Given the description of an element on the screen output the (x, y) to click on. 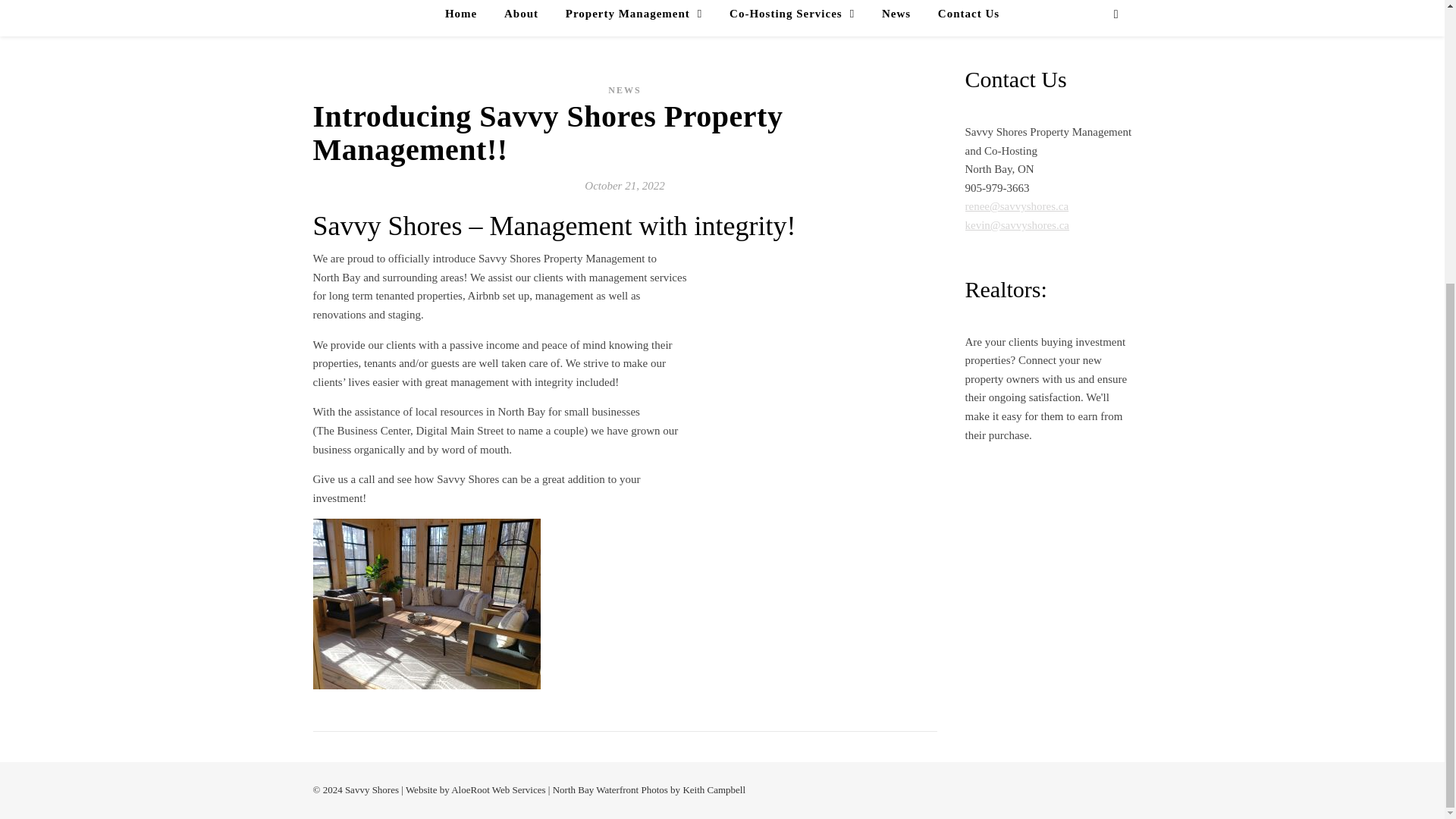
Keith Campbell (713, 789)
Co-Hosting Services (791, 18)
Contact Us (962, 18)
Home (467, 18)
Website by AloeRoot Web Services (476, 789)
NEWS (624, 90)
News (896, 18)
About (521, 18)
Property Management (633, 18)
